Given the description of an element on the screen output the (x, y) to click on. 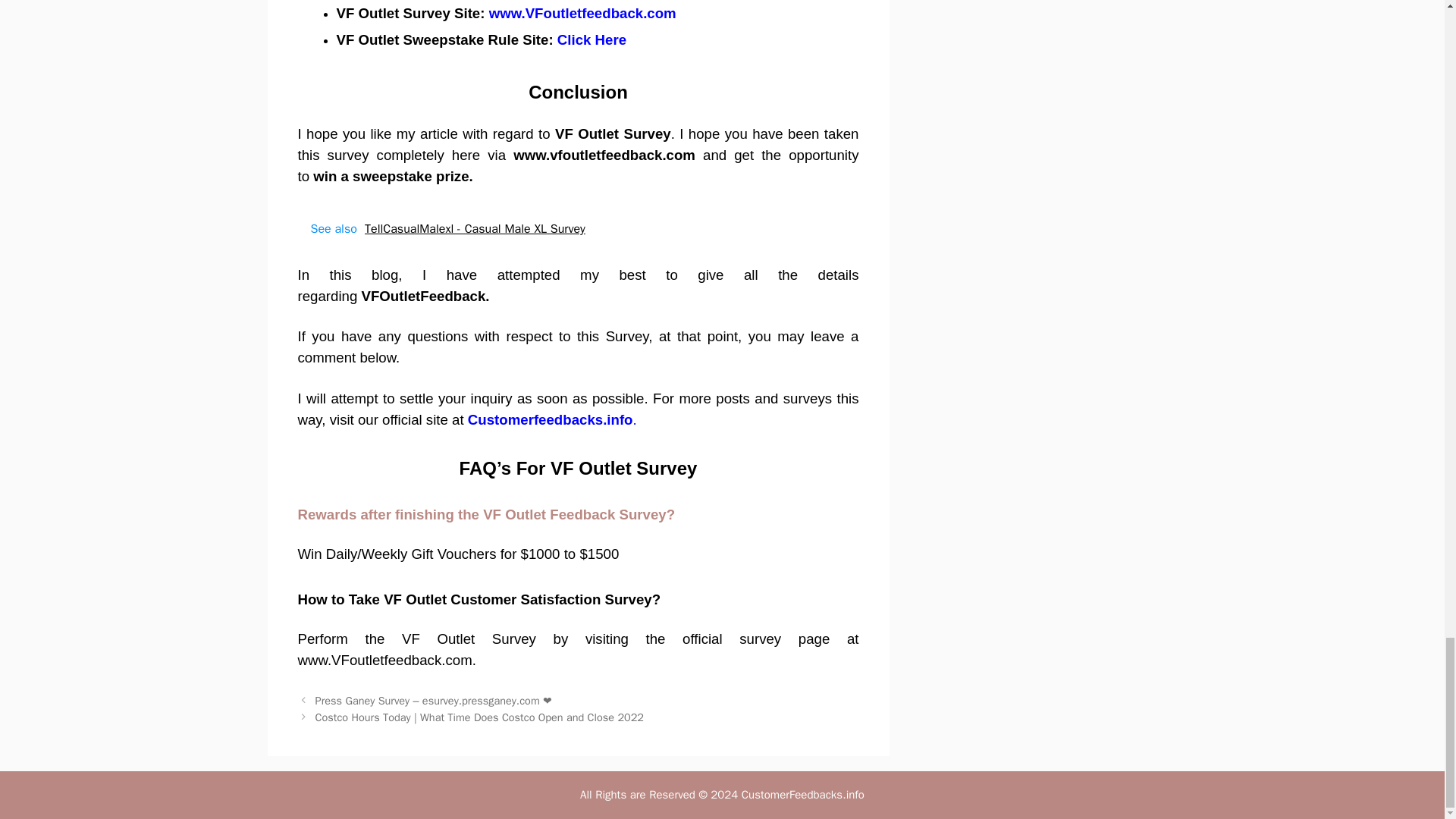
Click Here (591, 39)
Customerfeedbacks.info (550, 419)
www.VFoutletfeedback.com (583, 12)
See also  TellCasualMalexl - Casual Male XL Survey (578, 228)
